Given the description of an element on the screen output the (x, y) to click on. 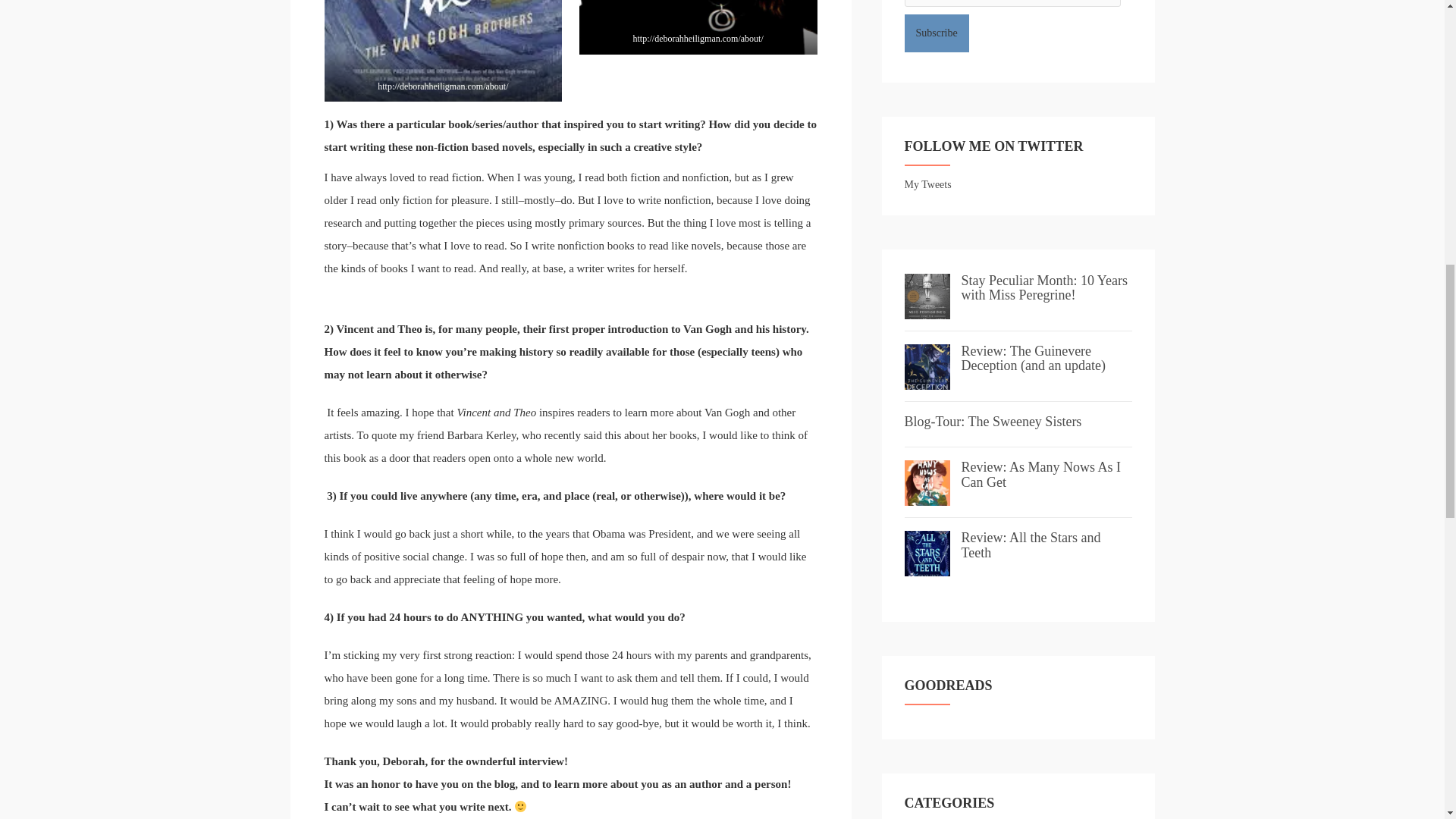
Stay Peculiar Month: 10 Years with Miss Peregrine! (1044, 287)
Subscribe (936, 33)
My Tweets (927, 184)
